Given the description of an element on the screen output the (x, y) to click on. 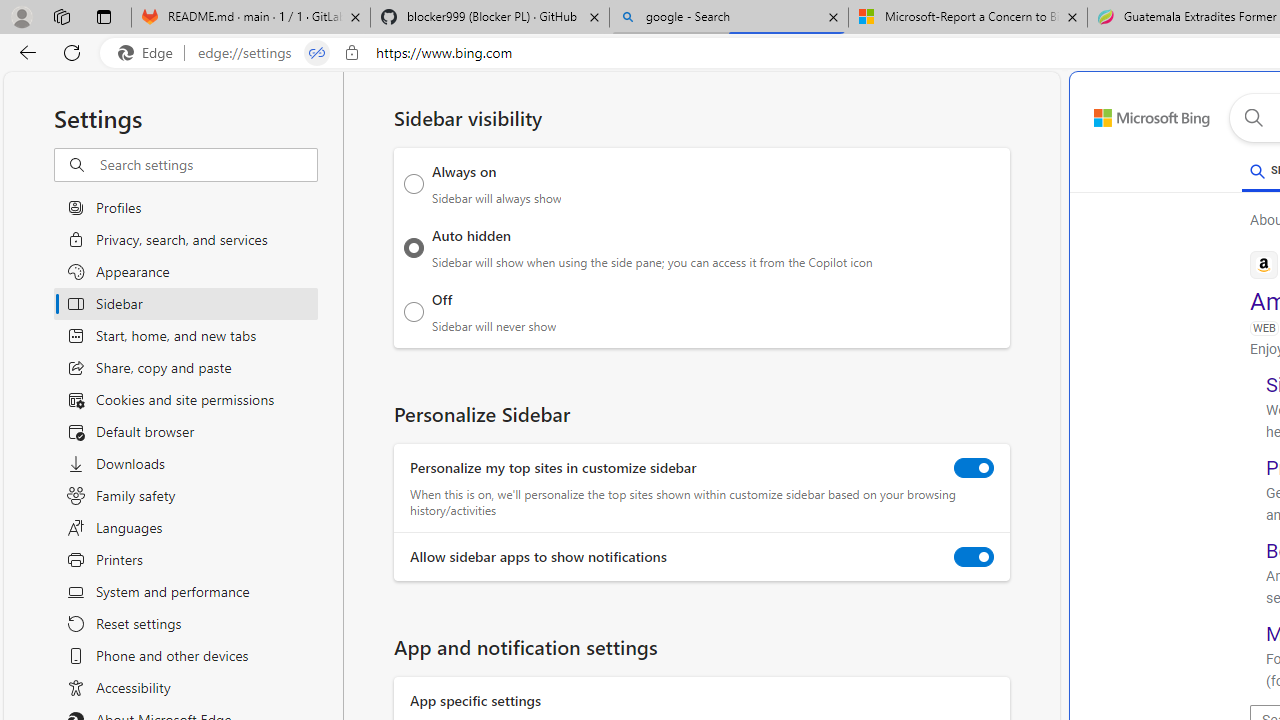
Allow sidebar apps to show notifications (973, 557)
Off Sidebar will never show (413, 311)
google - Search (729, 17)
Personalize my top sites in customize sidebar (973, 467)
Microsoft-Report a Concern to Bing (967, 17)
